Given the description of an element on the screen output the (x, y) to click on. 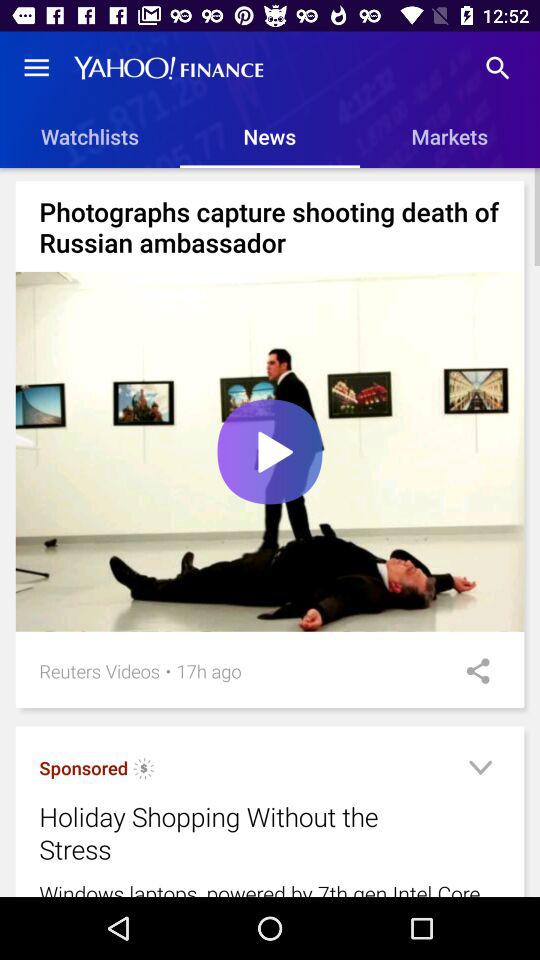
choose reuters videos icon (99, 670)
